Given the description of an element on the screen output the (x, y) to click on. 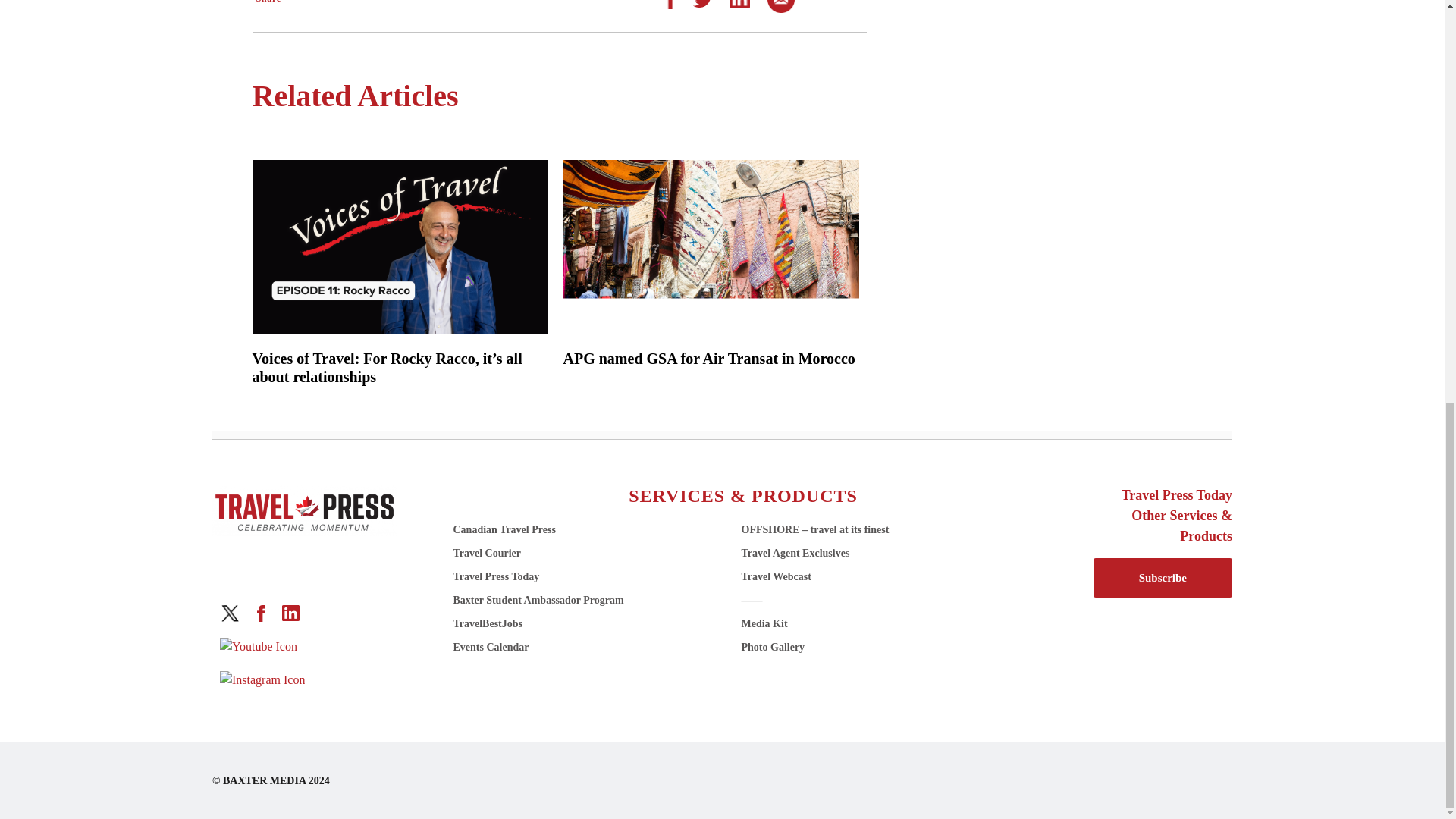
APG named GSA for Air Transat in Morocco (710, 358)
Permanent Link to APG named GSA for Air Transat in Morocco (710, 358)
Permanent Link to APG named GSA for Air Transat in Morocco (710, 246)
Share by Email (780, 2)
